Given the description of an element on the screen output the (x, y) to click on. 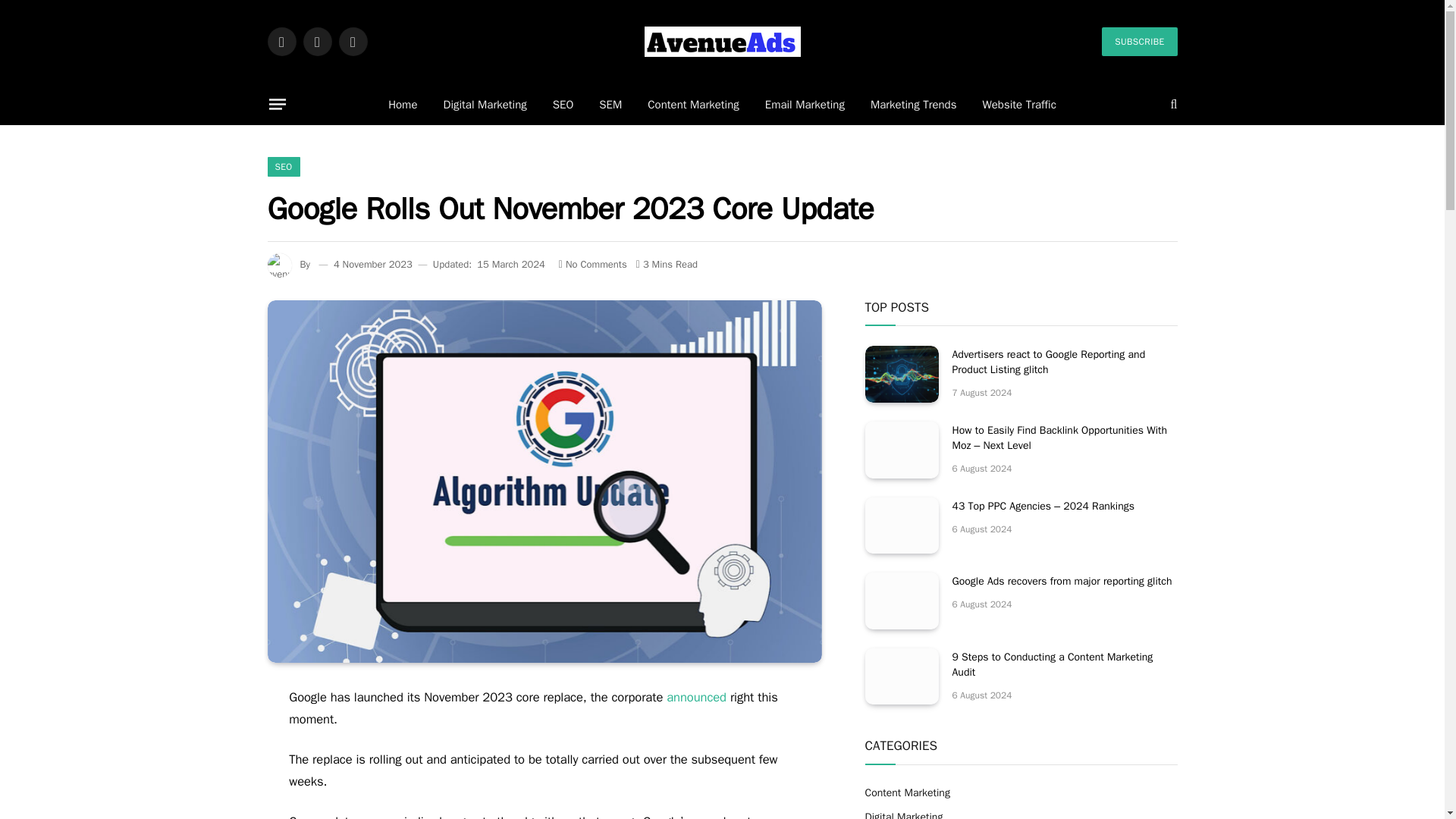
SUBSCRIBE (1139, 41)
Instagram (351, 41)
Website Traffic (1018, 104)
Marketing Trends (913, 104)
SEM (610, 104)
Facebook (280, 41)
Avenue Ads (722, 41)
Email Marketing (804, 104)
SEO (563, 104)
SEO (282, 166)
announced (696, 697)
Content Marketing (692, 104)
Home (402, 104)
Digital Marketing (485, 104)
